Given the description of an element on the screen output the (x, y) to click on. 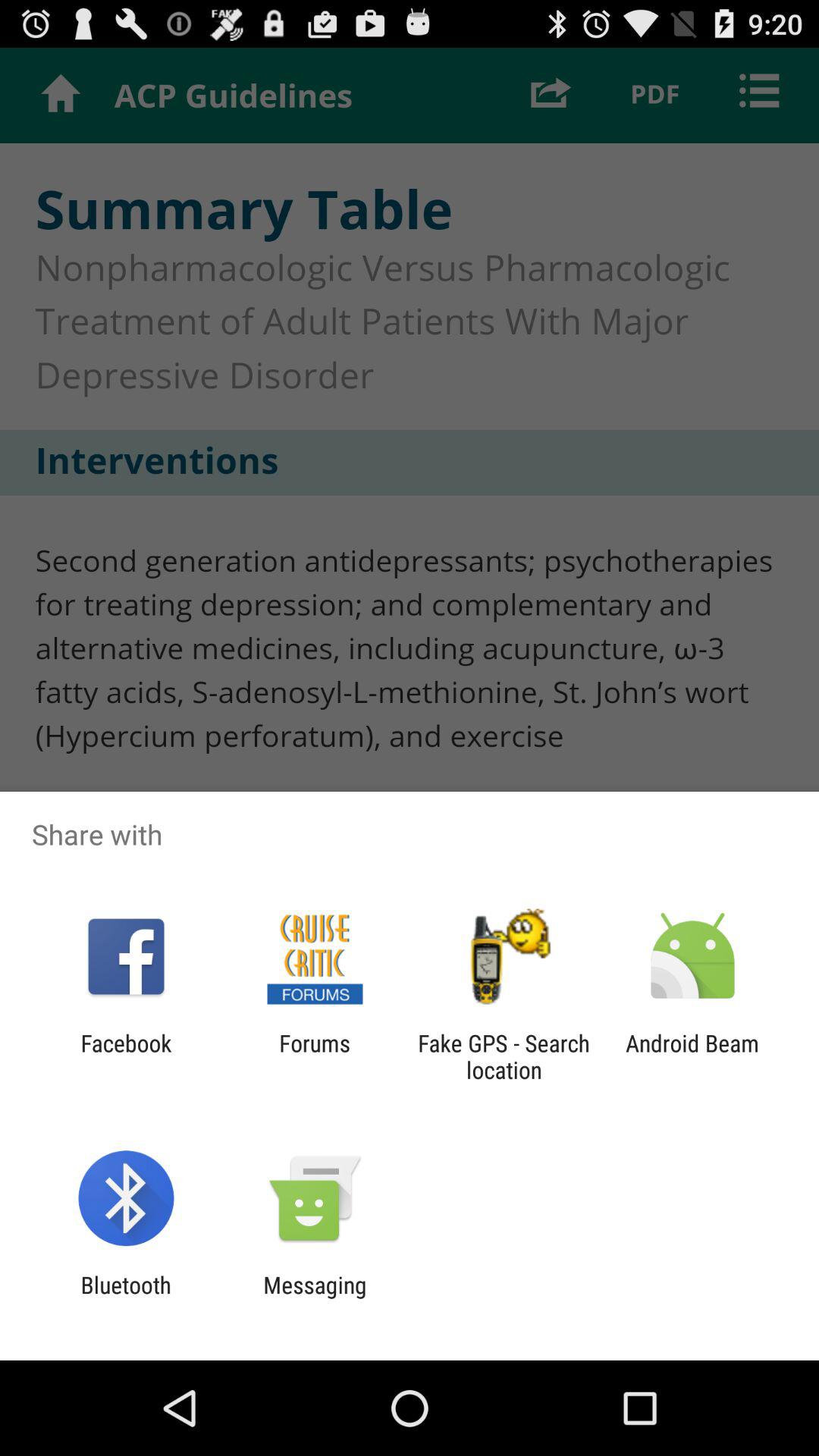
turn off the android beam (692, 1056)
